Given the description of an element on the screen output the (x, y) to click on. 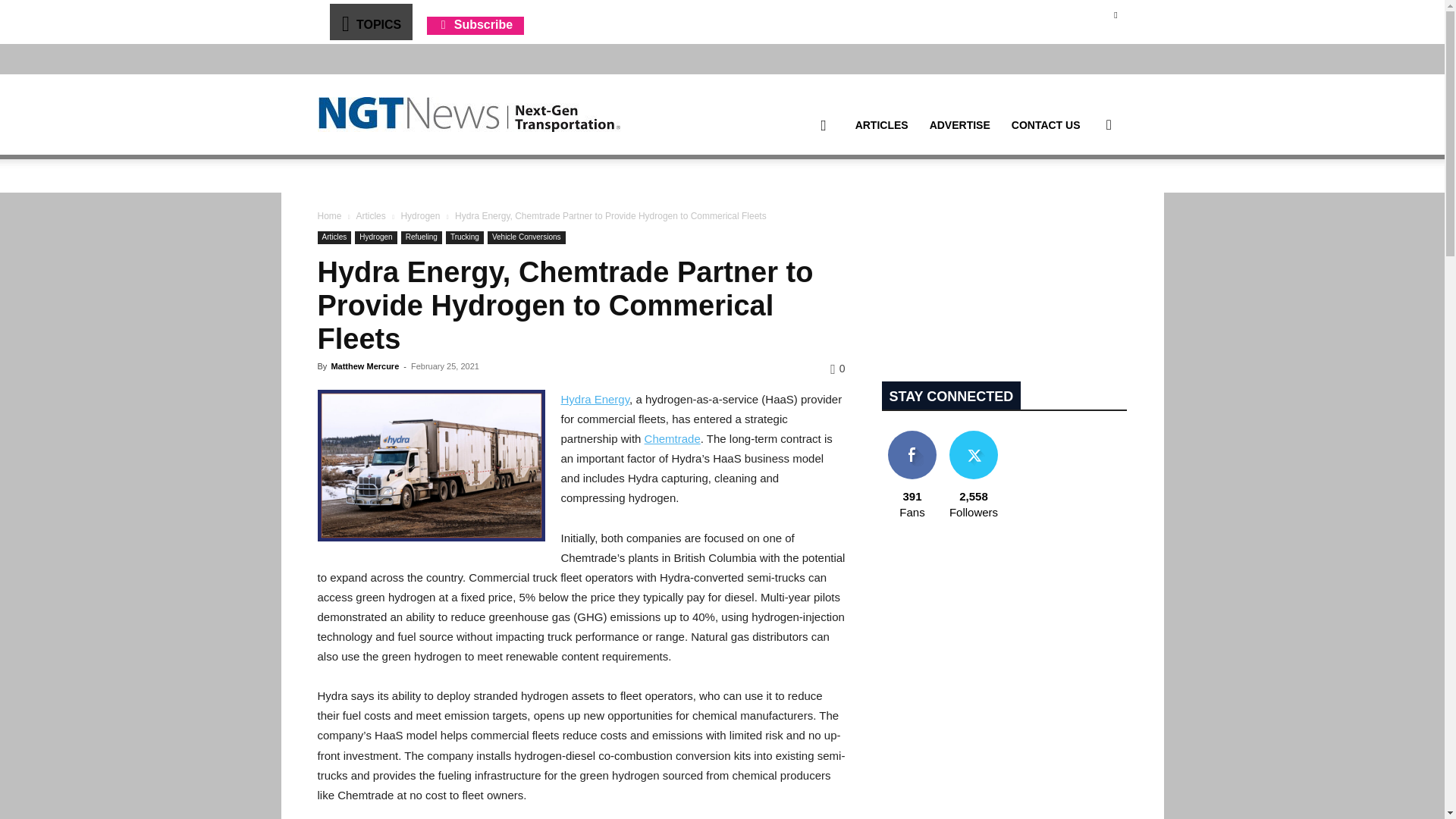
Search (1085, 197)
Twitter (1114, 14)
Subscribe (475, 24)
TOPICS (370, 22)
NGT News (468, 114)
ARTICLES (881, 124)
Alternative Fuel News, CNG News (468, 114)
